Given the description of an element on the screen output the (x, y) to click on. 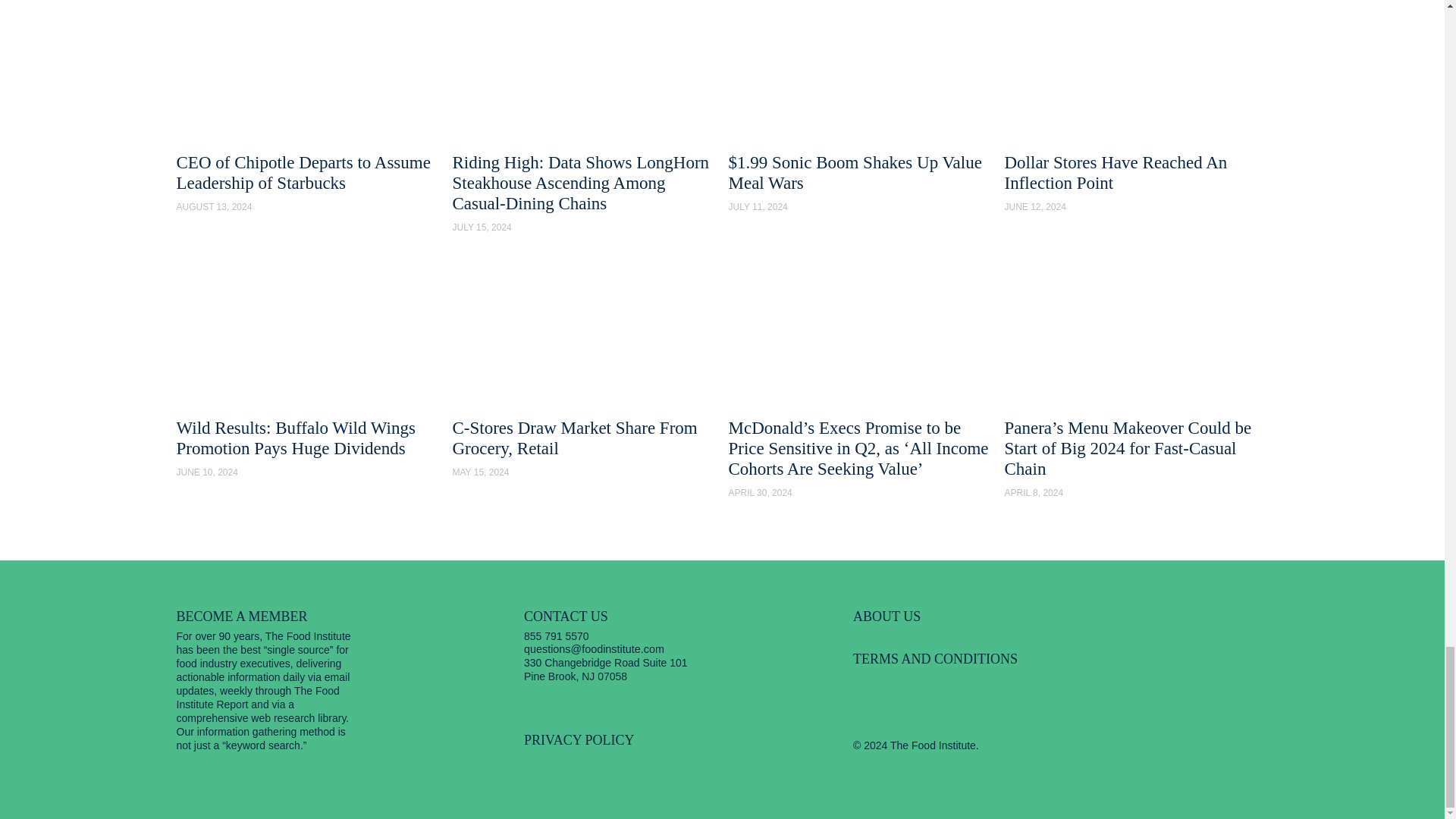
Dollar Stores Have Reached An Inflection Point (1136, 106)
C-Stores Draw Market Share From Grocery, Retail (583, 368)
CEO of Chipotle Departs to Assume Leadership of Starbucks (307, 106)
